Given the description of an element on the screen output the (x, y) to click on. 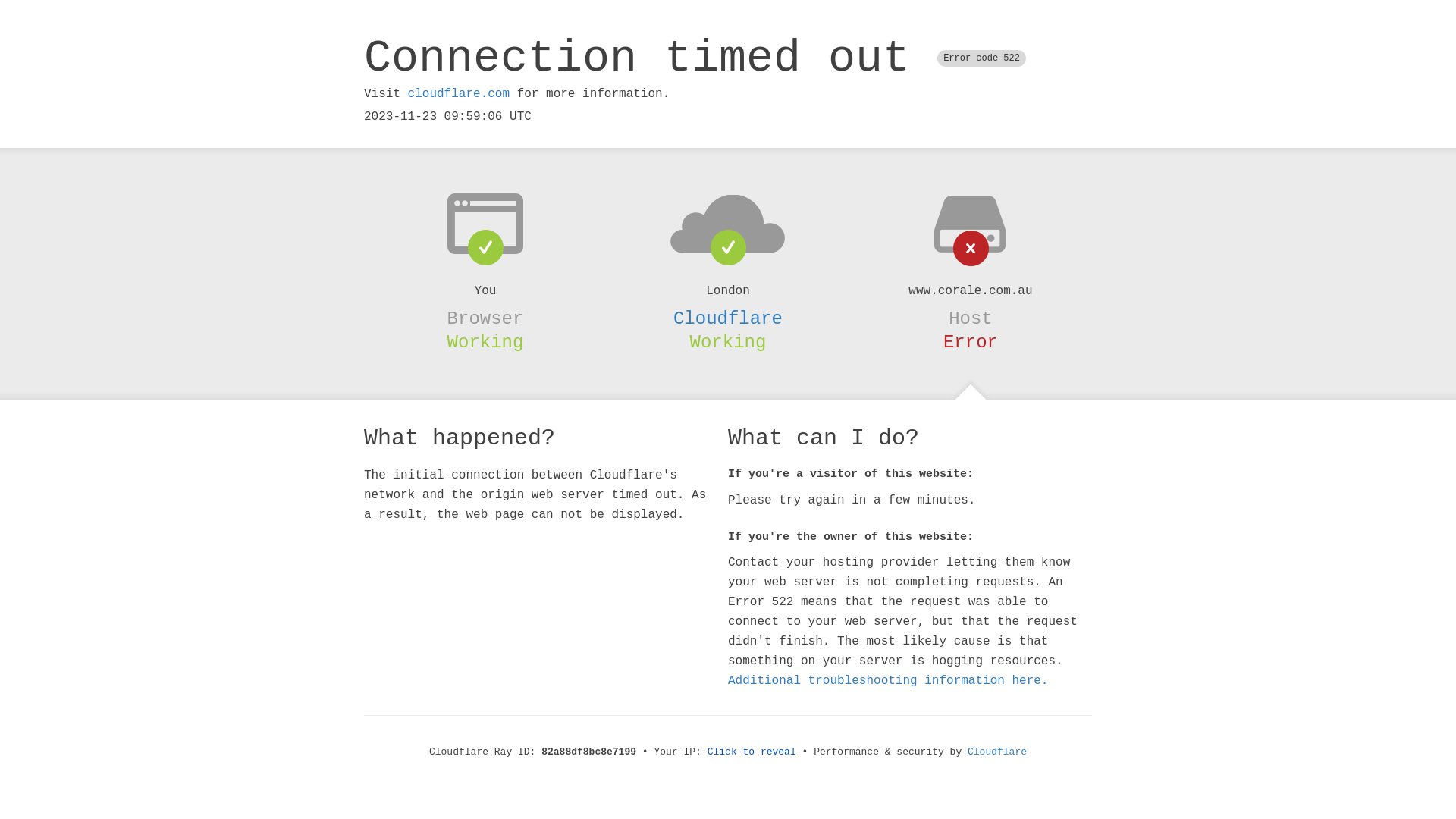
Cloudflare Element type: text (727, 318)
Click to reveal Element type: text (751, 751)
Additional troubleshooting information here. Element type: text (888, 680)
cloudflare.com Element type: text (458, 93)
Cloudflare Element type: text (996, 751)
